Given the description of an element on the screen output the (x, y) to click on. 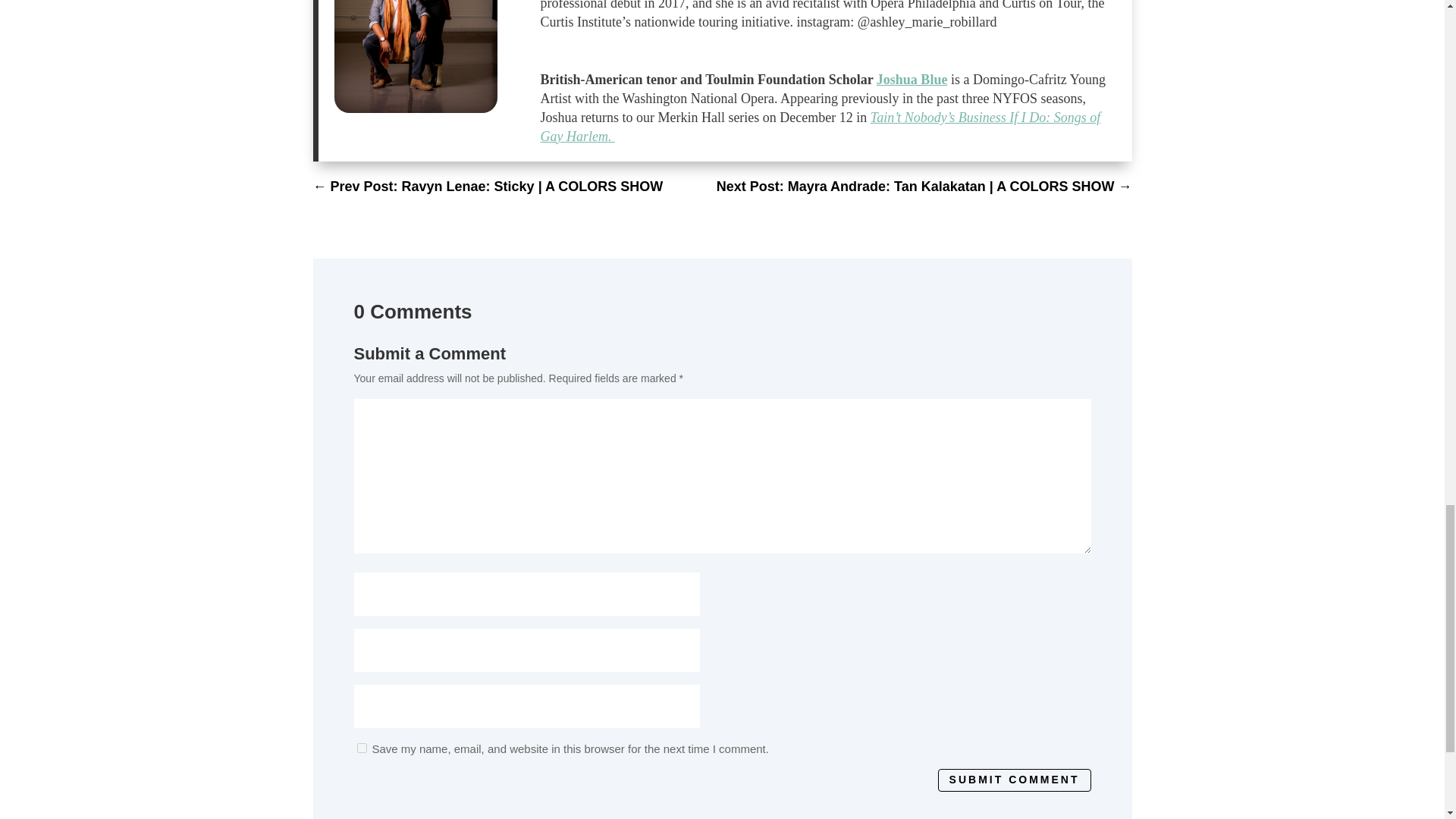
SUBMIT COMMENT (1013, 780)
yes (361, 747)
Joshua Blue (911, 79)
